Given the description of an element on the screen output the (x, y) to click on. 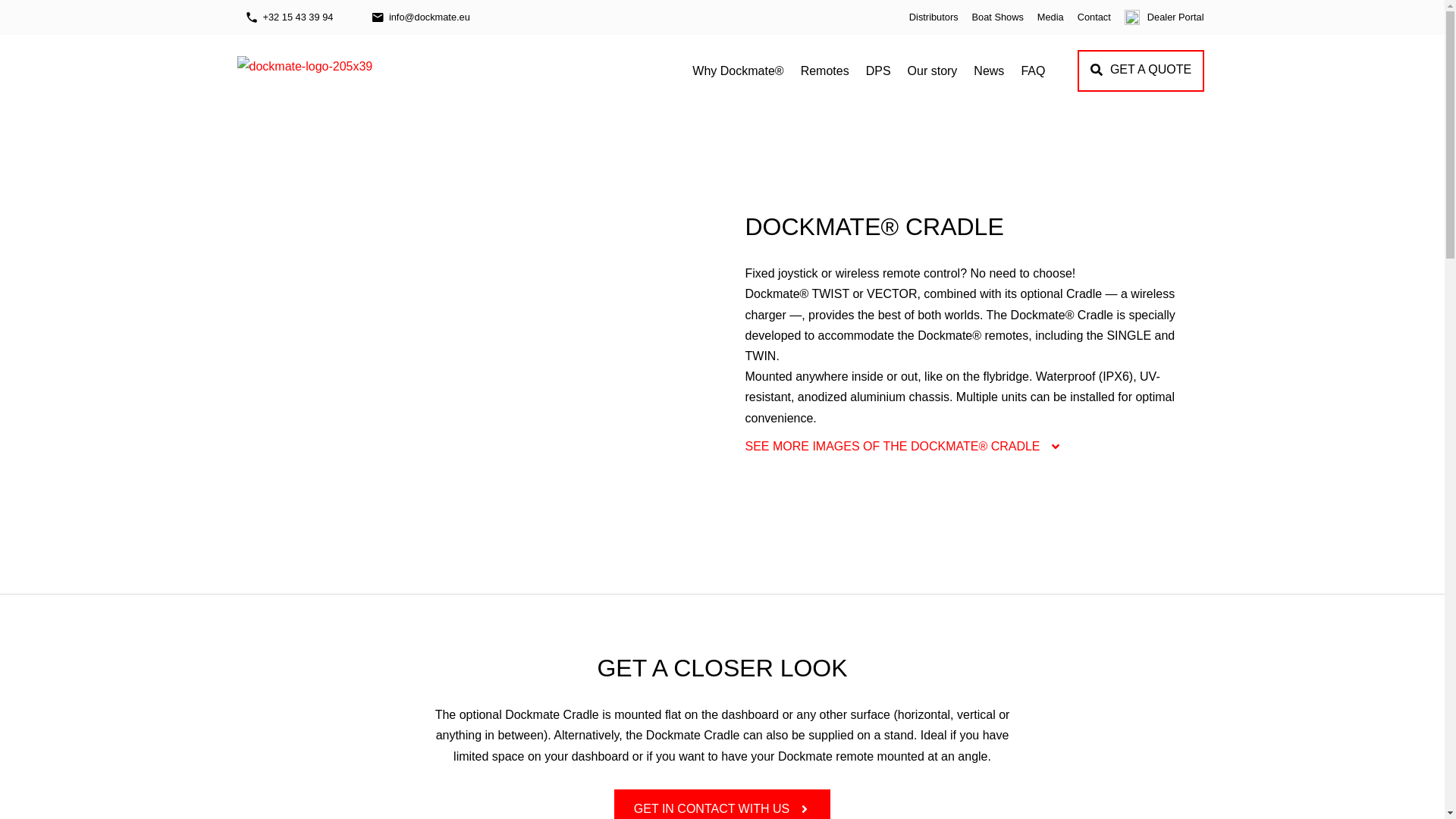
GET IN CONTACT WITH US (721, 804)
Remotes (824, 70)
Distributors (933, 17)
FAQ (1032, 70)
Dealer Portal (1164, 17)
DPS (878, 70)
Boat Shows (997, 17)
Contact (1094, 17)
Media (1050, 17)
News (988, 70)
Our story (932, 70)
GET A QUOTE (1140, 70)
